Given the description of an element on the screen output the (x, y) to click on. 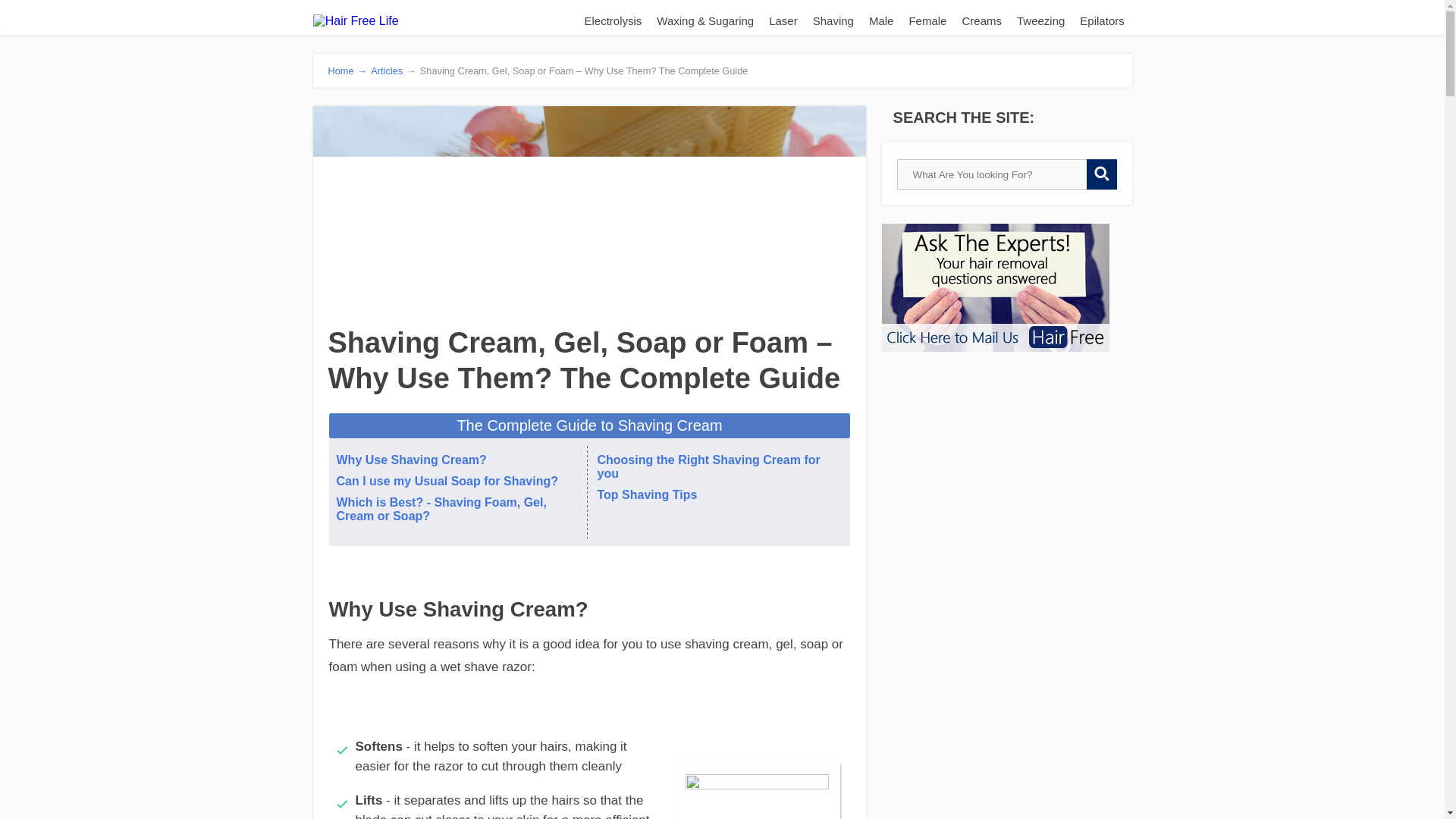
Morning Hygiene (756, 796)
Electrolysis (612, 20)
